Given the description of an element on the screen output the (x, y) to click on. 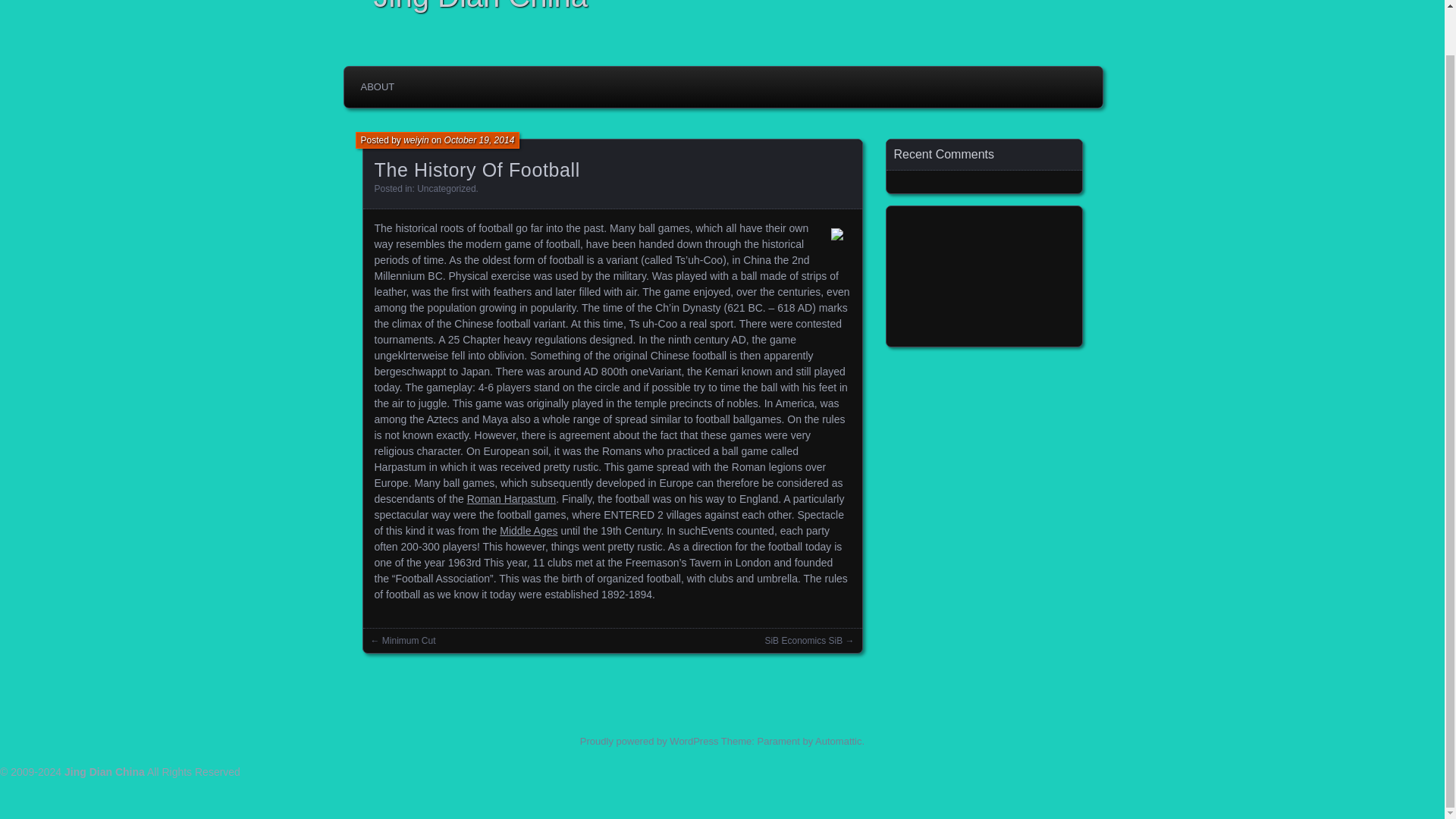
Minimum Cut (408, 640)
Proudly powered by WordPress (649, 740)
Roman Harpastum (511, 499)
View all posts by weiyin (415, 140)
ABOUT (377, 87)
October 19, 2014 (479, 140)
Jing Dian China (726, 7)
Middle Ages (528, 530)
Jing Dian China (104, 771)
SiB Economics SiB (803, 640)
